Given the description of an element on the screen output the (x, y) to click on. 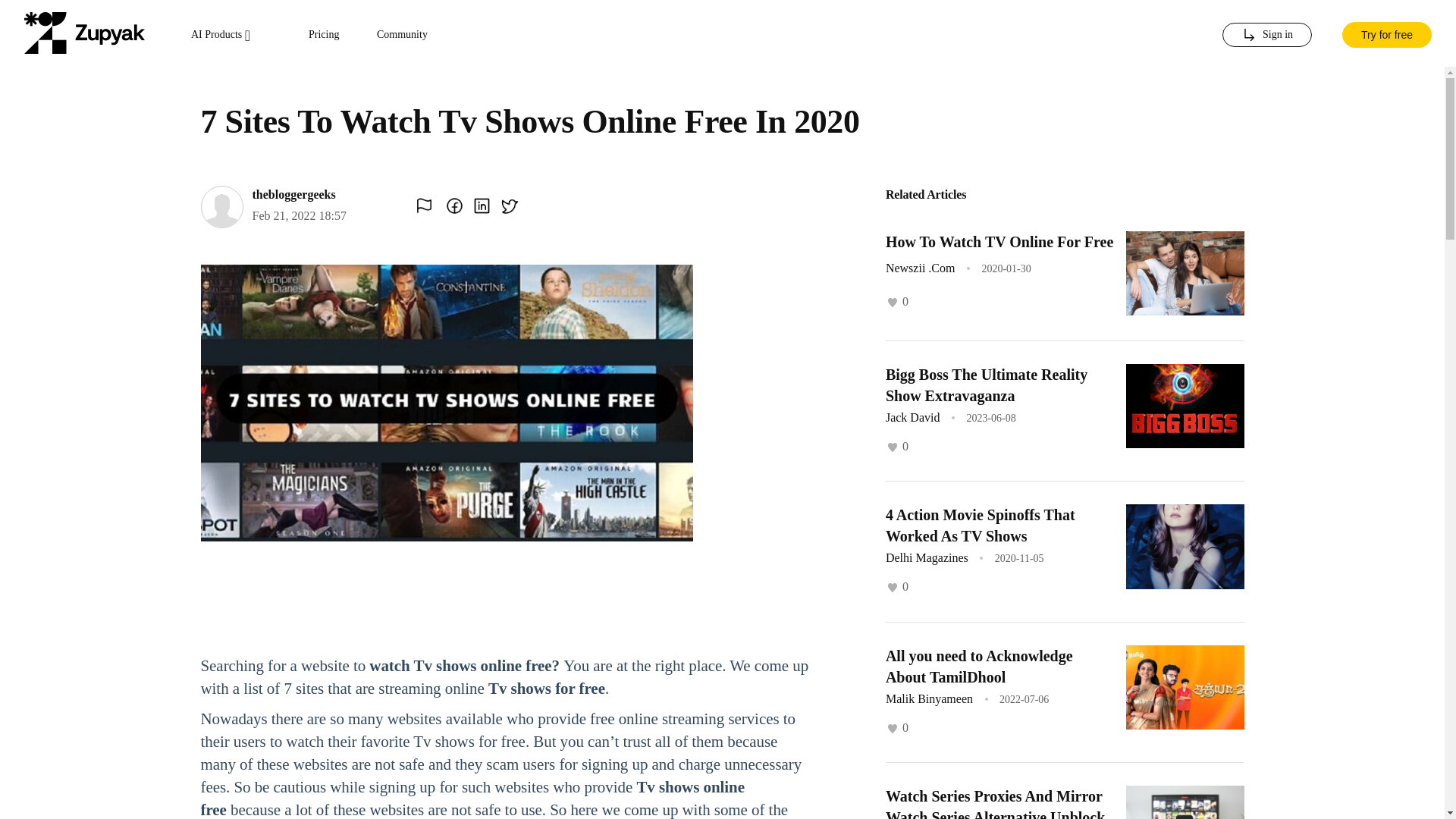
4 Action Movie Spinoffs That Worked As TV Shows (980, 525)
 Sign in (1267, 34)
Bigg Boss The Ultimate Reality Show Extravaganza (986, 385)
Bigg Boss The Ultimate Reality Show Extravaganza (986, 385)
Try for free (1386, 33)
Pricing (323, 34)
All you need to Acknowledge About TamilDhool (979, 666)
How To Watch TV Online For Free (999, 241)
How To Watch TV Online For Free (999, 241)
